Given the description of an element on the screen output the (x, y) to click on. 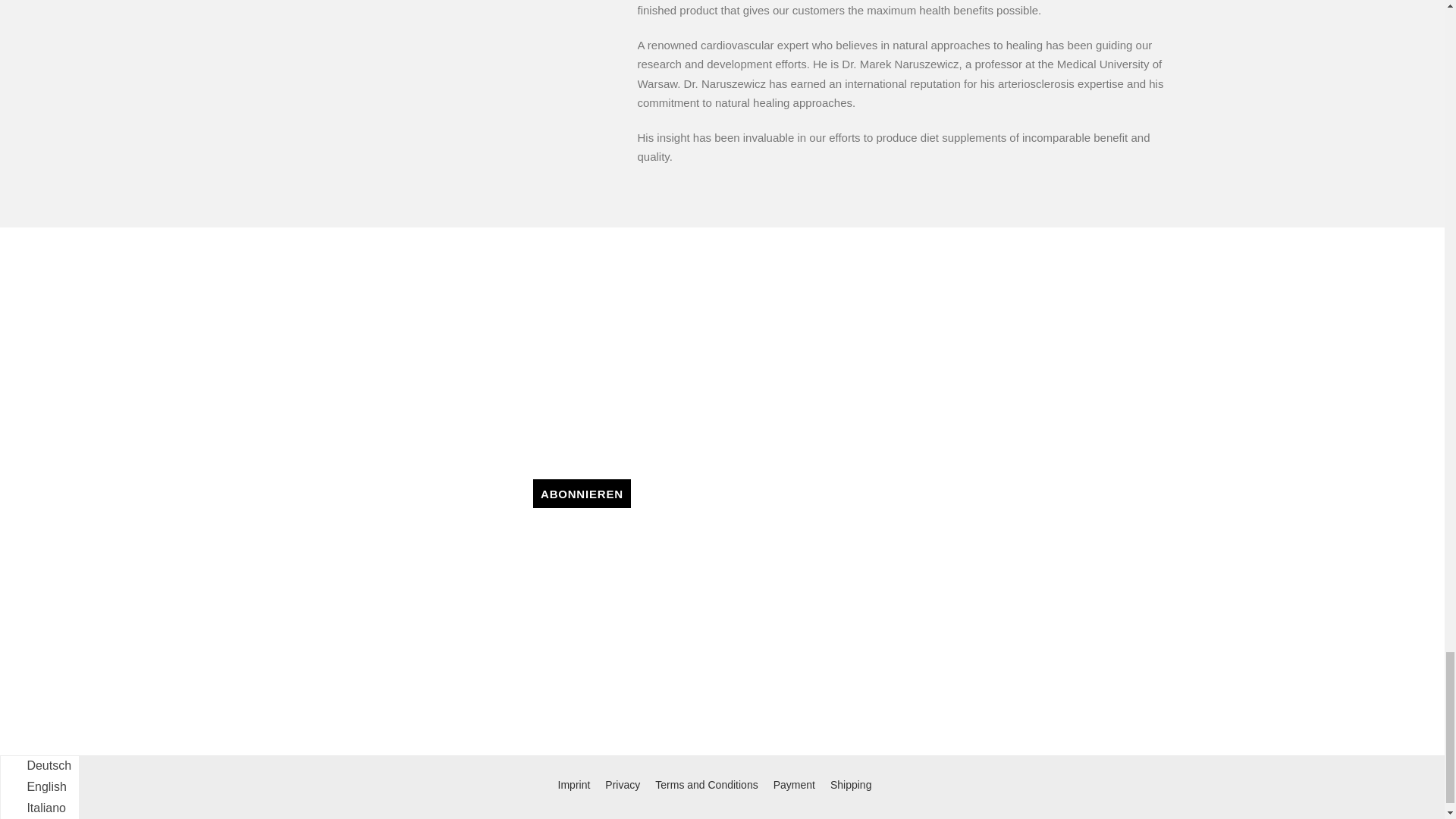
Abonnieren (581, 493)
film-lab-still2 (441, 47)
